Given the description of an element on the screen output the (x, y) to click on. 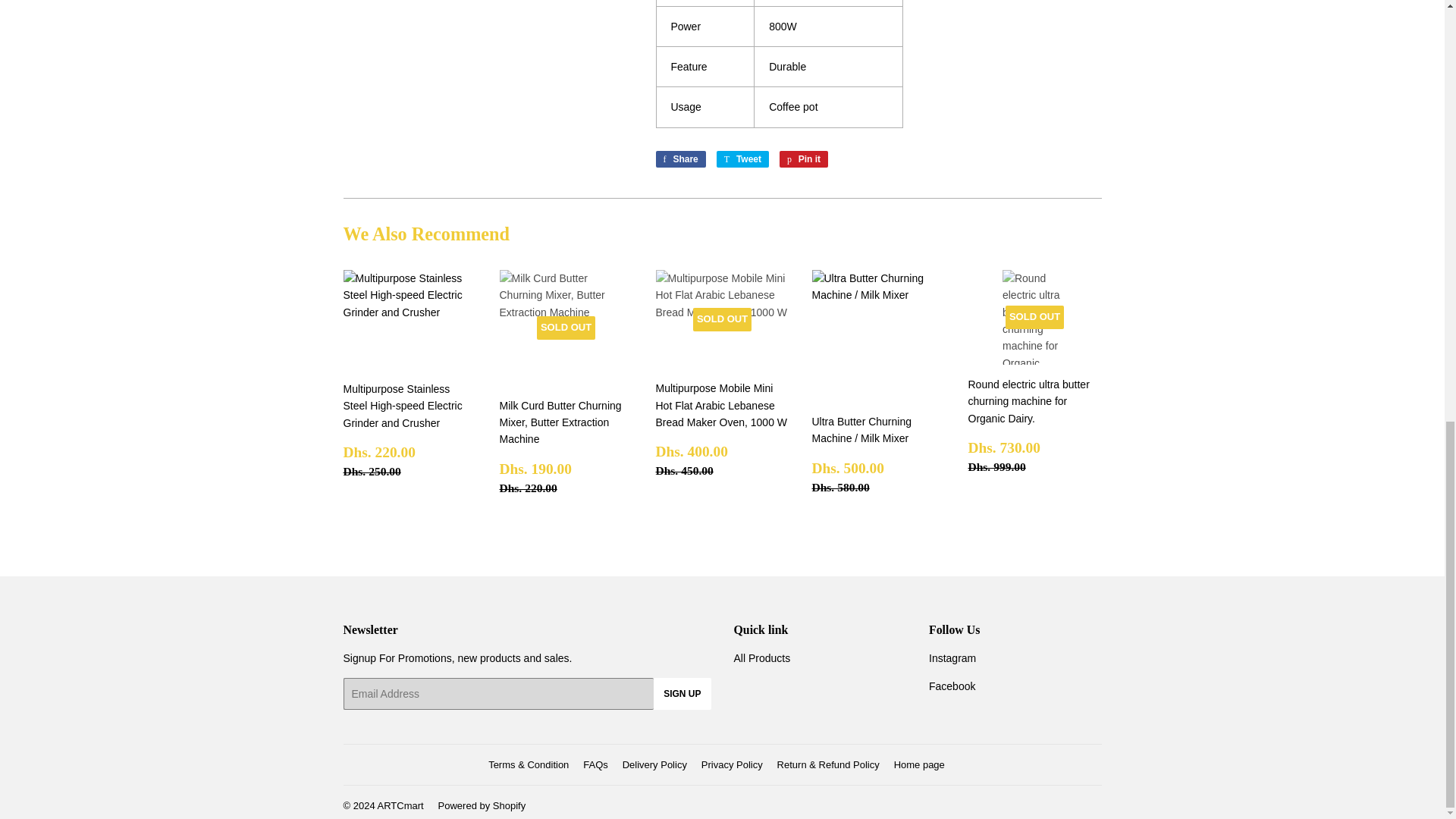
Share on Facebook (679, 158)
Pin on Pinterest (803, 158)
Tweet on Twitter (679, 158)
